Given the description of an element on the screen output the (x, y) to click on. 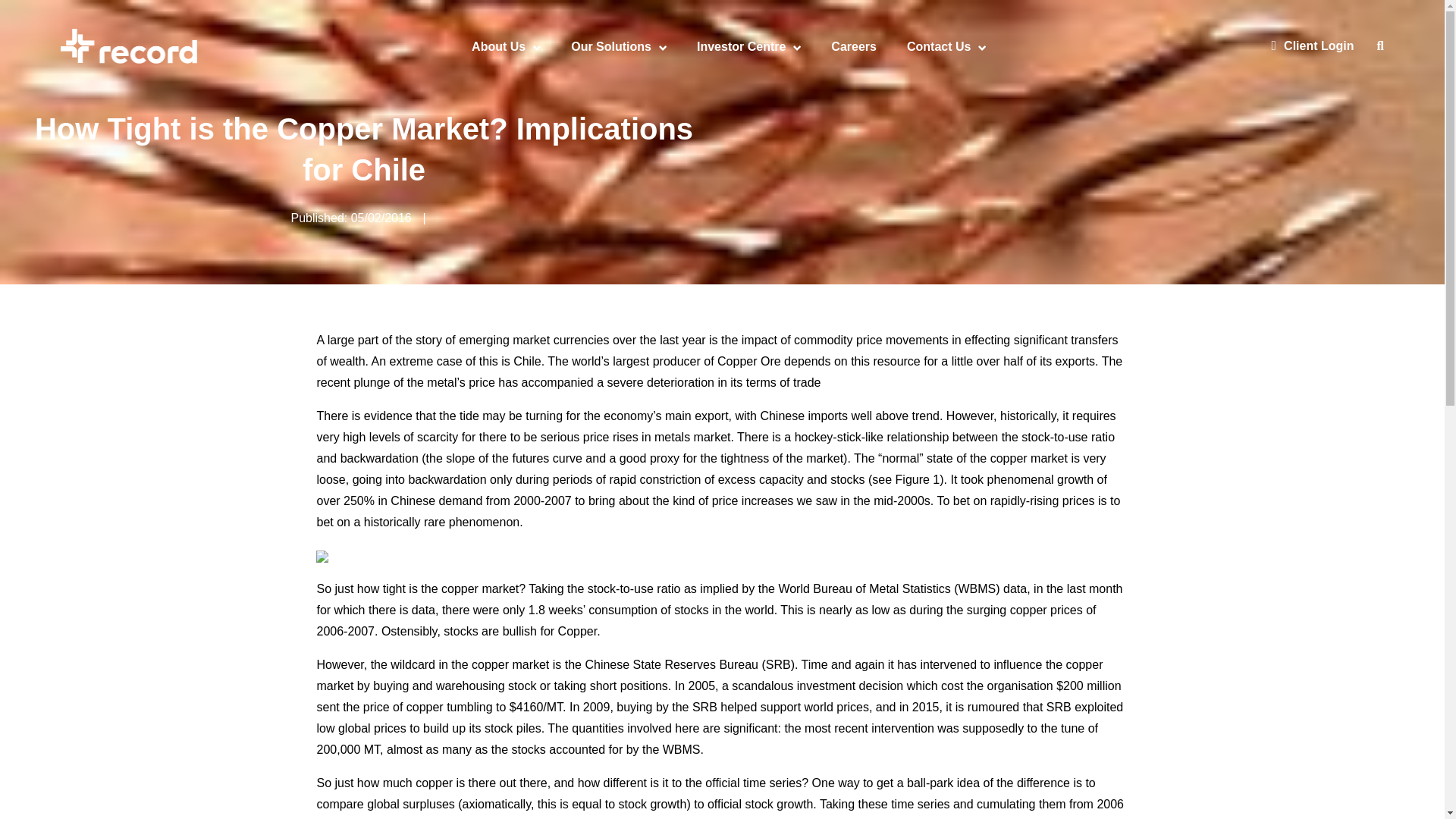
Client Login (1312, 45)
Careers (853, 46)
Our Solutions (610, 46)
About Us (498, 46)
Contact Us (939, 46)
Investor Centre (741, 46)
